Given the description of an element on the screen output the (x, y) to click on. 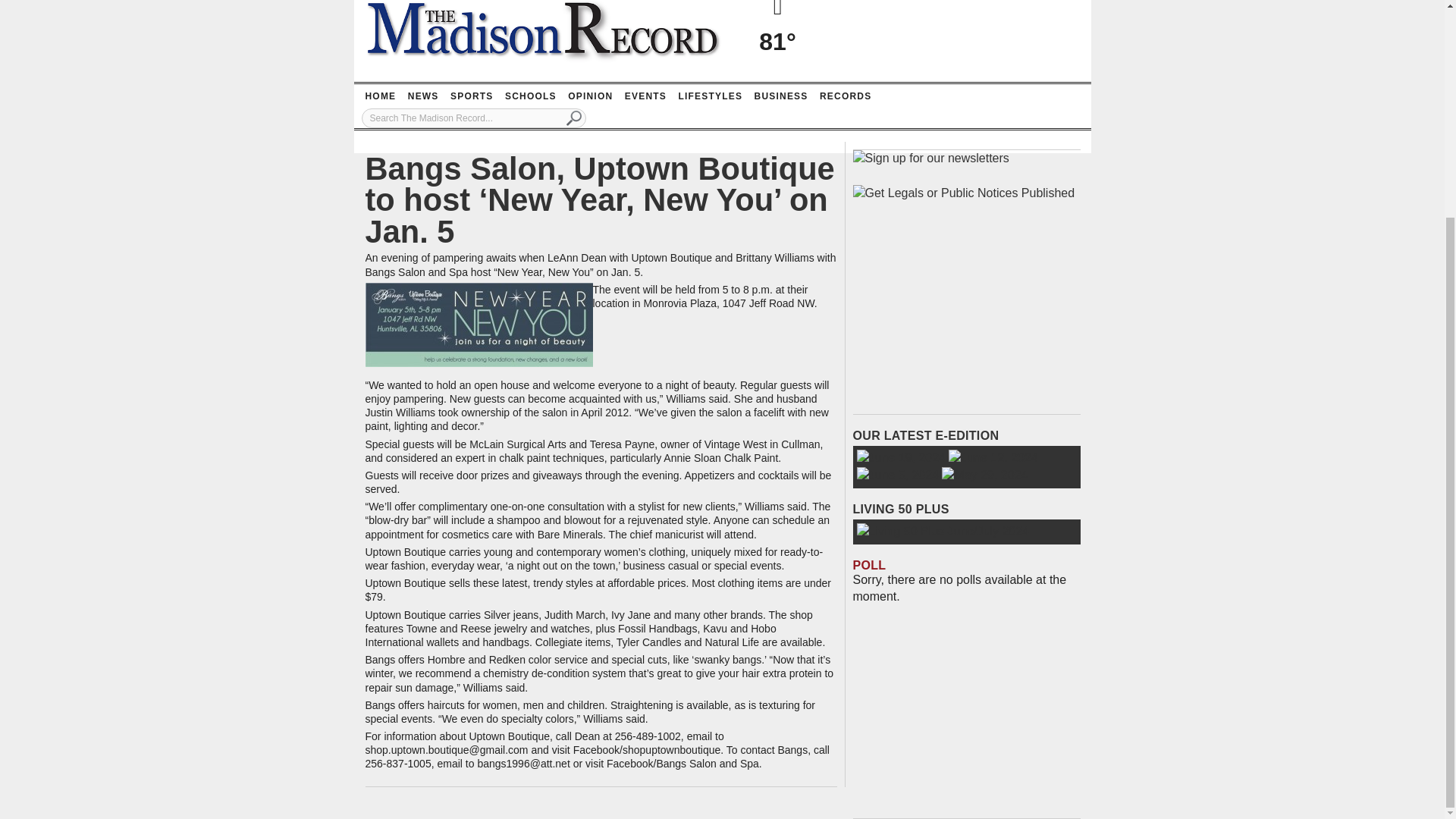
Go (574, 117)
OPINION (589, 96)
EVENTS (645, 96)
Search The Madison Record... (473, 117)
OUR LATEST E-EDITION (924, 435)
NEWS (423, 96)
SCHOOLS (530, 96)
NewYearNewYou (478, 324)
RECORDS (845, 96)
Search The Madison Record... (473, 117)
